Given the description of an element on the screen output the (x, y) to click on. 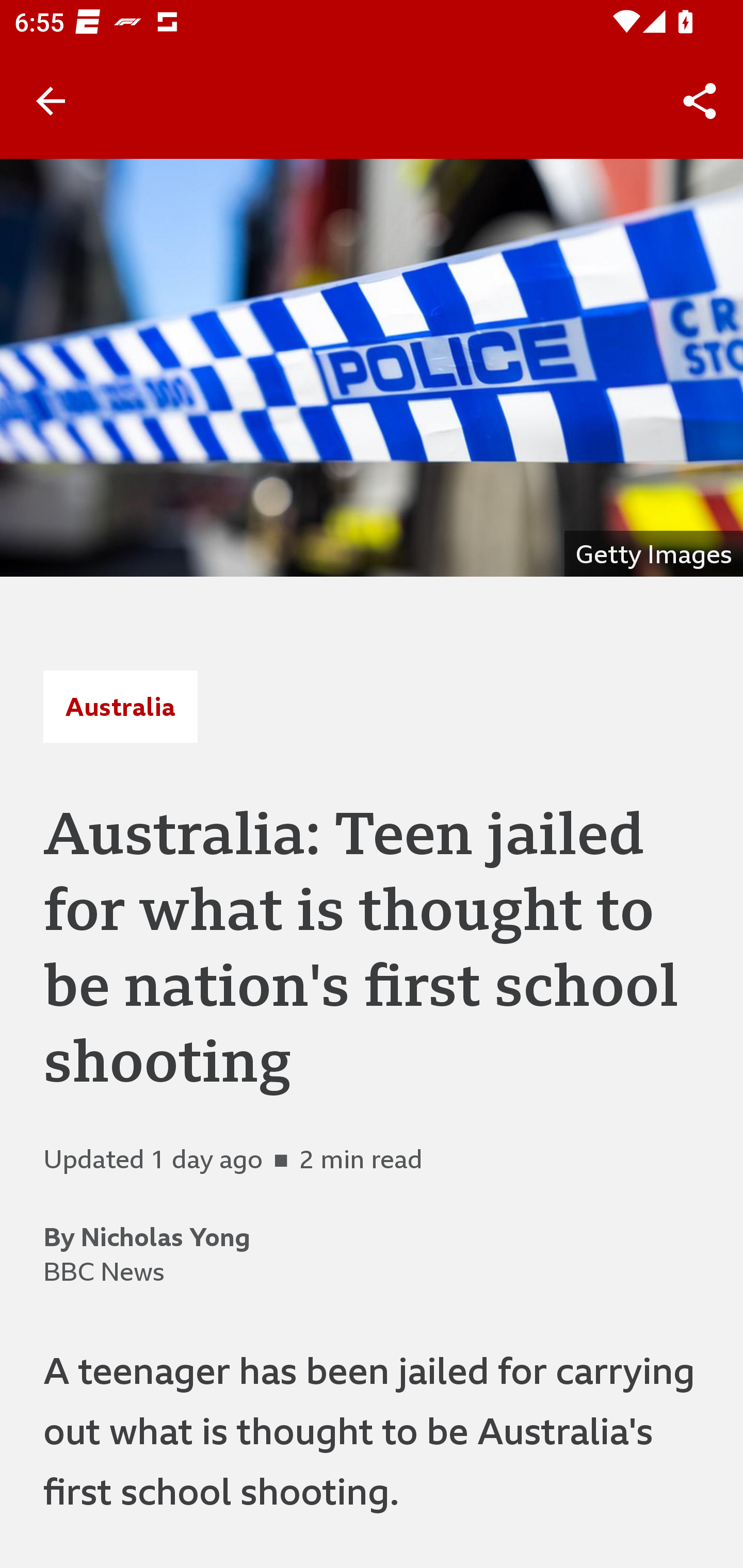
Back (50, 101)
Share (699, 101)
Australia (120, 706)
